Given the description of an element on the screen output the (x, y) to click on. 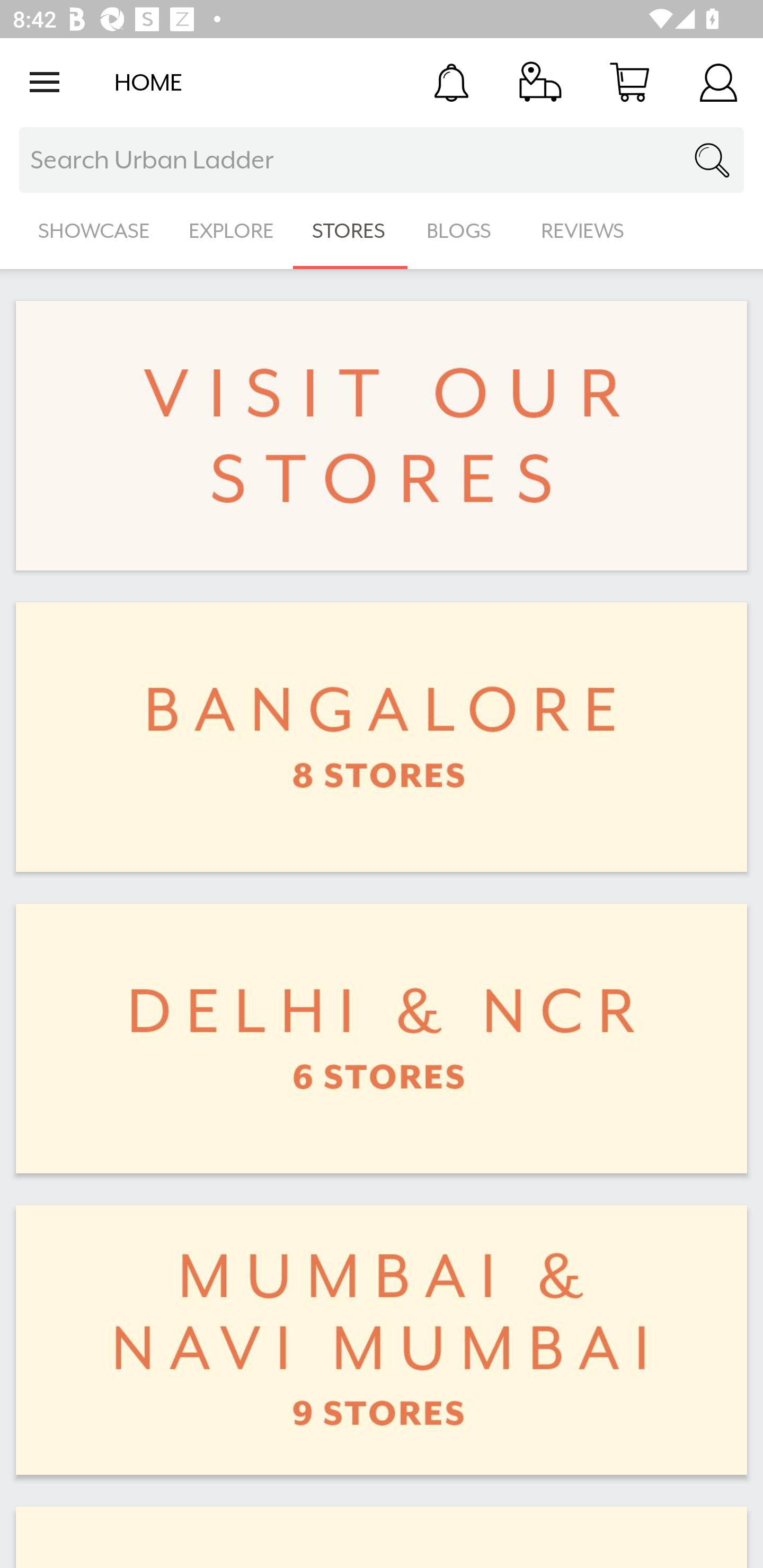
Open navigation drawer (44, 82)
Notification (450, 81)
Track Order (540, 81)
Cart (629, 81)
Account Details (718, 81)
Search Urban Ladder  (381, 159)
SHOWCASE (94, 230)
EXPLORE (230, 230)
STORES (349, 230)
BLOGS (464, 230)
REVIEWS (582, 230)
